Given the description of an element on the screen output the (x, y) to click on. 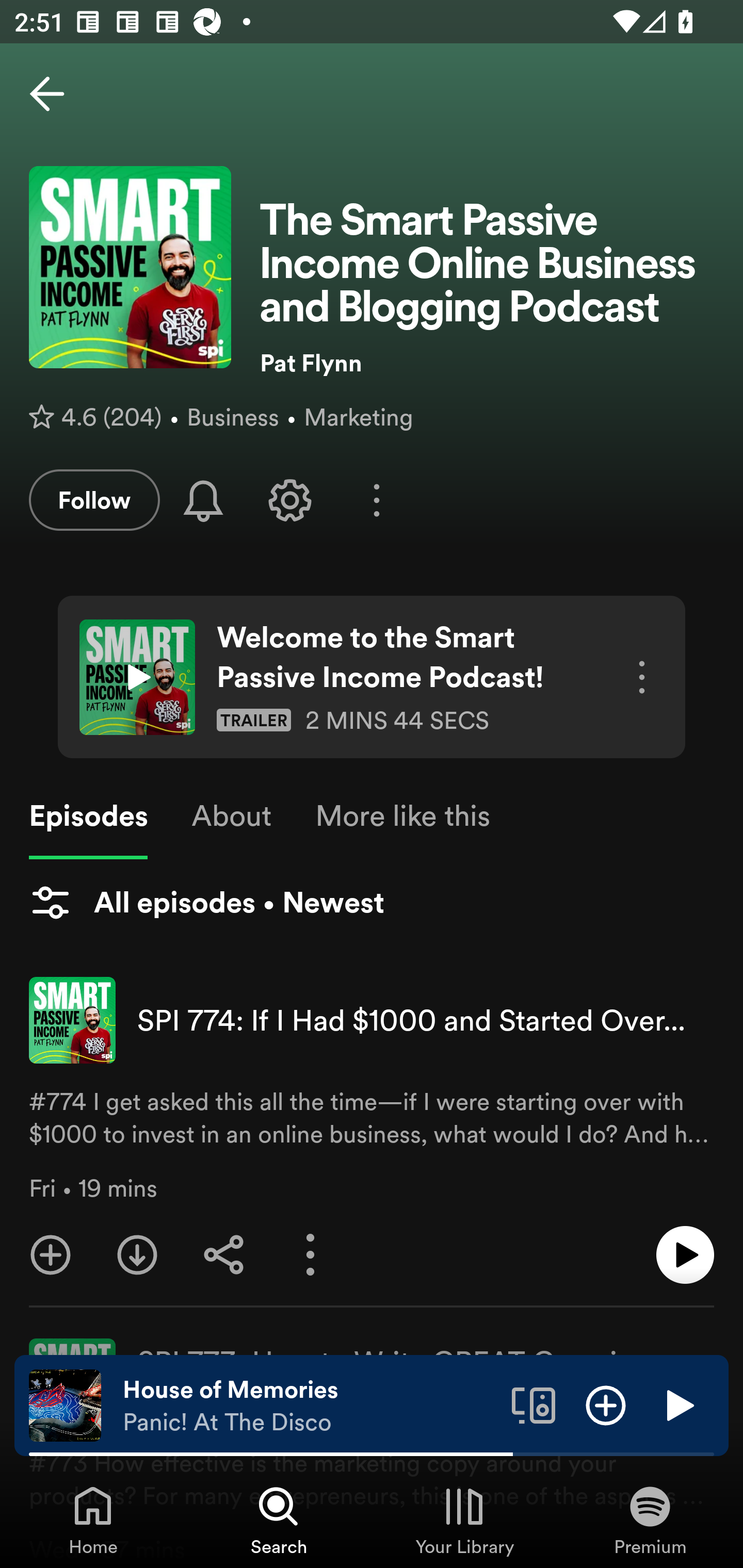
Back (46, 93)
Pat Flynn (487, 362)
Follow Follow this show (93, 499)
Settings for this Show. (289, 500)
About (231, 816)
More like this (402, 816)
All episodes • Newest (206, 902)
Share (223, 1255)
House of Memories Panic! At The Disco (309, 1405)
The cover art of the currently playing track (64, 1404)
Connect to a device. Opens the devices menu (533, 1404)
Add item (605, 1404)
Play (677, 1404)
Home, Tab 1 of 4 Home Home (92, 1519)
Search, Tab 2 of 4 Search Search (278, 1519)
Your Library, Tab 3 of 4 Your Library Your Library (464, 1519)
Premium, Tab 4 of 4 Premium Premium (650, 1519)
